Given the description of an element on the screen output the (x, y) to click on. 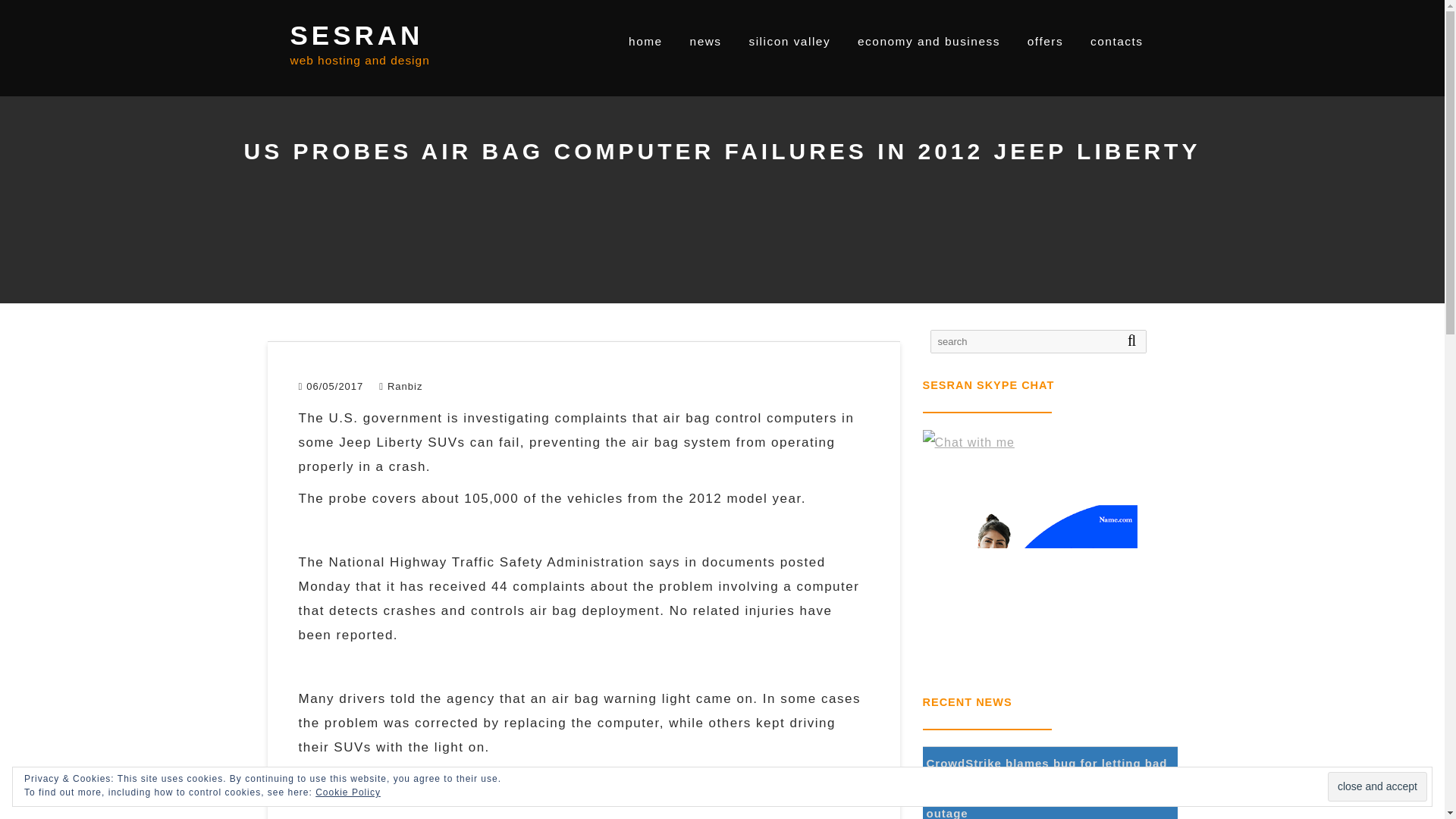
Ranbiz (400, 386)
Cookie Policy (347, 792)
close and accept (1376, 786)
home (645, 41)
news (705, 41)
economy and business (928, 41)
offers (1045, 41)
SESRAN (356, 34)
silicon valley (788, 41)
close and accept (1376, 786)
contacts (1116, 41)
SESRAN (356, 34)
